Given the description of an element on the screen output the (x, y) to click on. 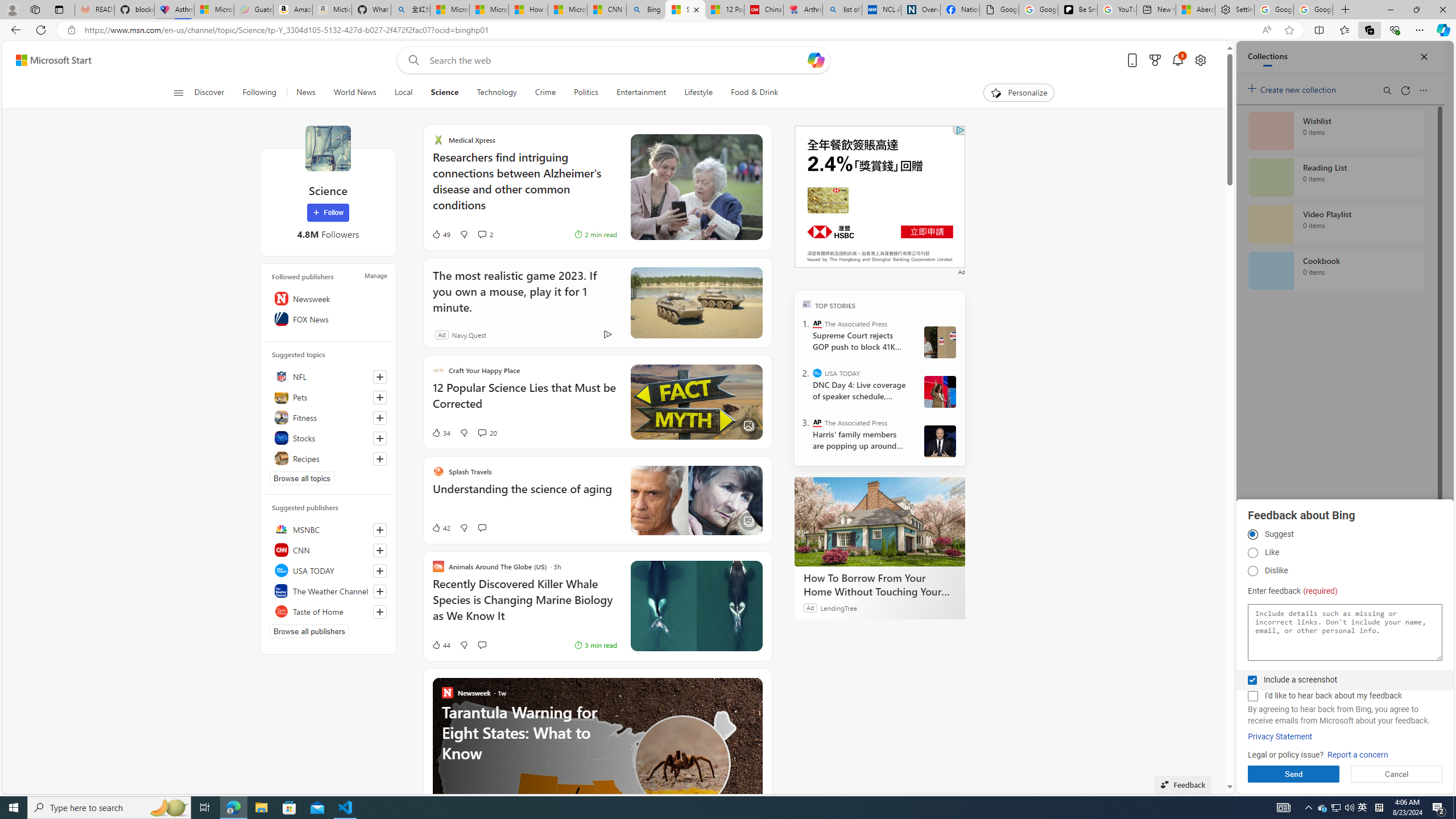
Microsoft-Report a Concern to Bing (213, 9)
Google Analytics Opt-out Browser Add-on Download Page (999, 9)
Aberdeen, Hong Kong SAR hourly forecast | Microsoft Weather (1195, 9)
